Given the description of an element on the screen output the (x, y) to click on. 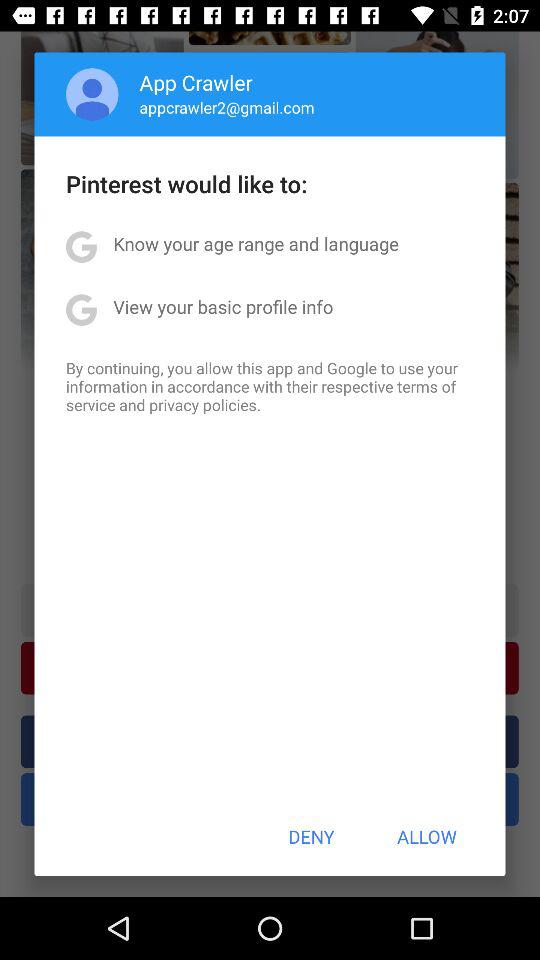
flip until the appcrawler2@gmail.com icon (226, 107)
